Given the description of an element on the screen output the (x, y) to click on. 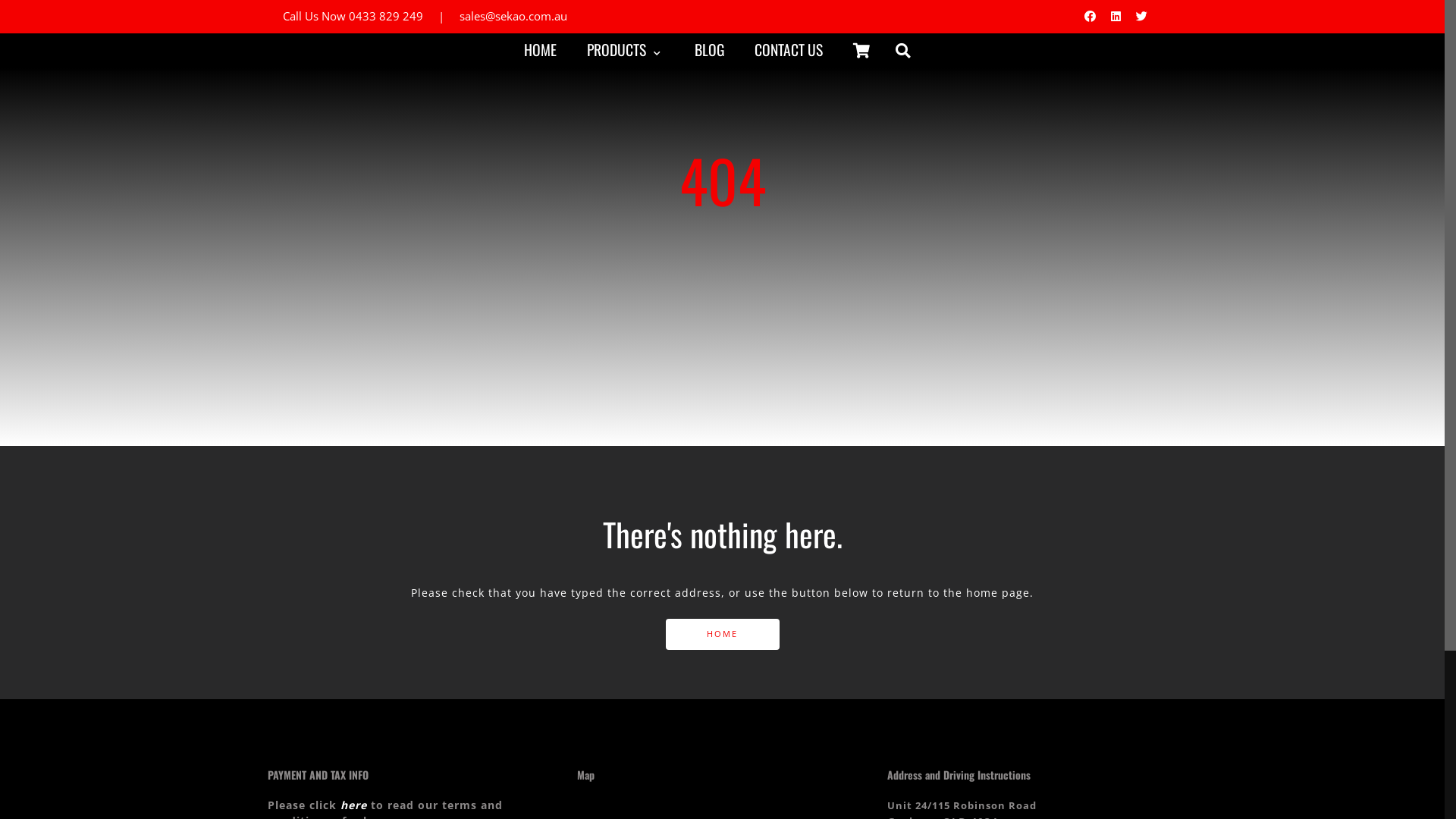
| Element type: text (441, 15)
HOME Element type: text (722, 633)
PRODUCTS Element type: text (623, 49)
HOME Element type: text (539, 49)
here  Element type: text (354, 804)
BLOG Element type: text (709, 49)
Call Us Now 0433 829 249 Element type: text (352, 15)
sales@sekao.com.au Element type: text (513, 15)
CONTACT US Element type: text (787, 49)
